Given the description of an element on the screen output the (x, y) to click on. 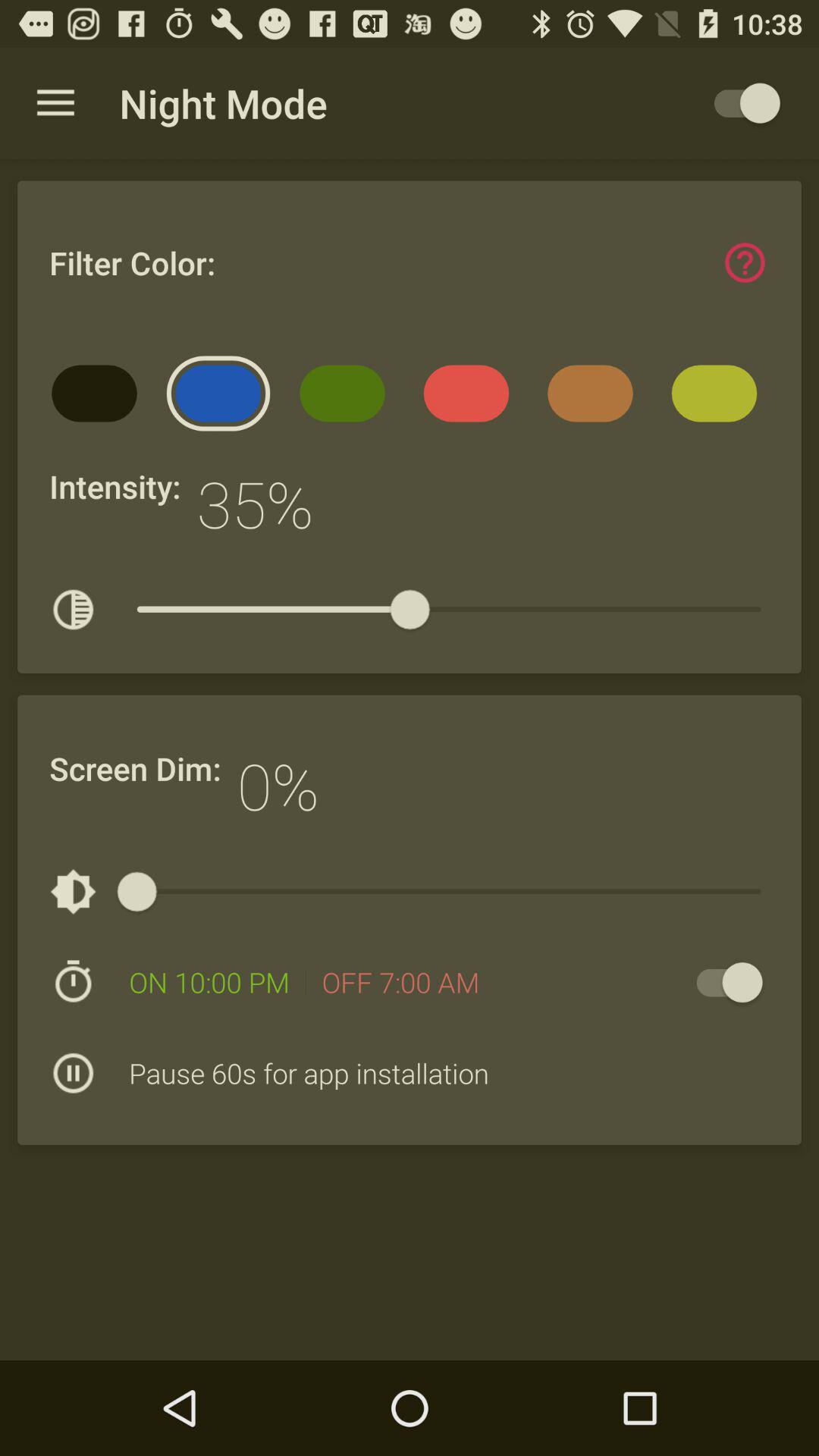
launch the icon below the filter color: (223, 398)
